Given the description of an element on the screen output the (x, y) to click on. 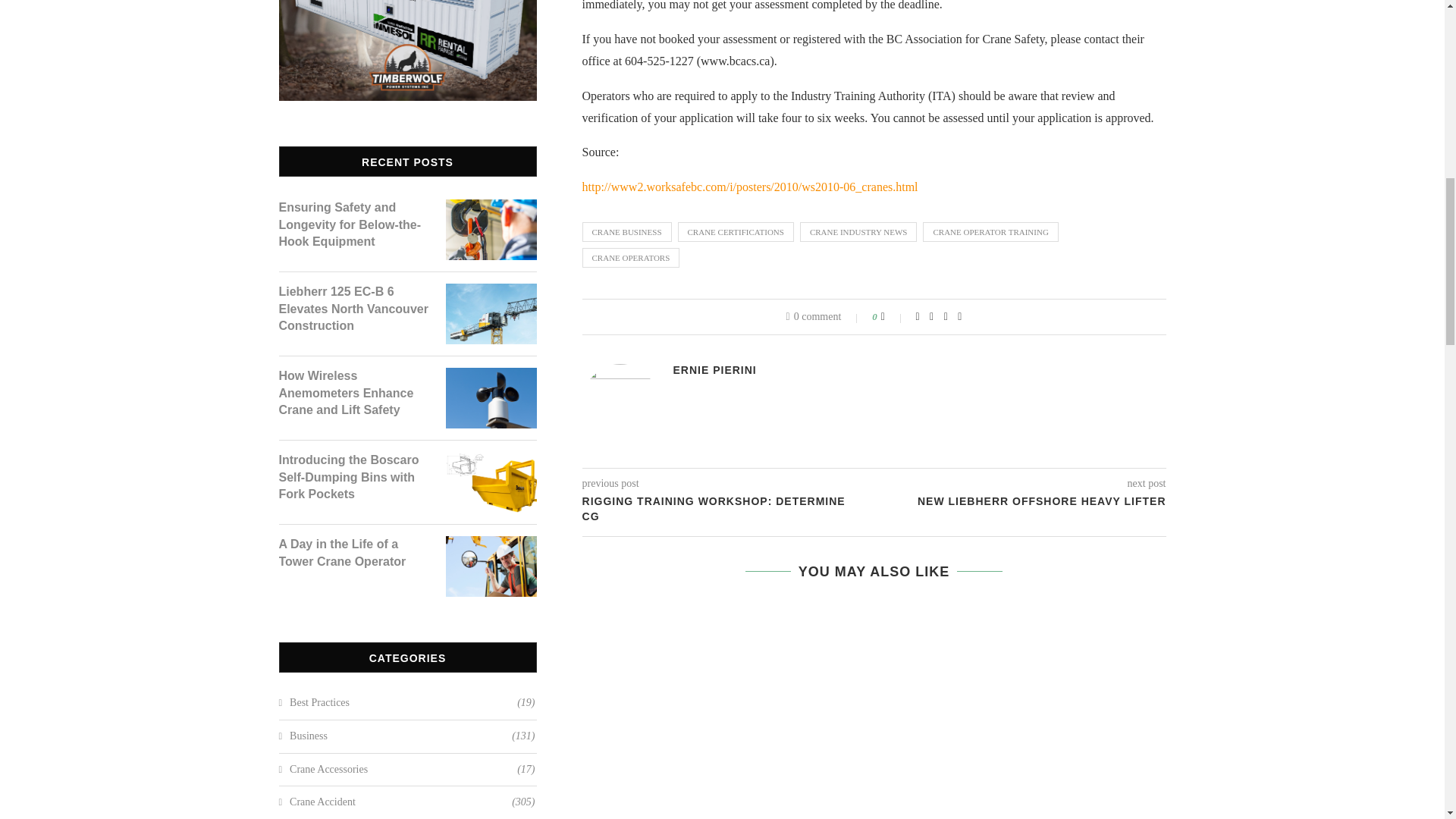
How Wireless Anemometers Enhance Crane and Lift Safety (354, 392)
Ensuring Safety and Longevity for Below-the-Hook Equipment (354, 224)
Liebherr 125 EC-B 6 Elevates North Vancouver Construction (491, 292)
A Day in the Life of a Tower Crane Operator (491, 545)
Liebherr 125 EC-B 6 Elevates North Vancouver Construction (354, 308)
Ensuring Safety and Longevity for Below-the-Hook Equipment (491, 208)
Introducing the Boscaro Self-Dumping Bins with Fork Pockets (354, 477)
Introducing the Boscaro Self-Dumping Bins with Fork Pockets (491, 460)
How Wireless Anemometers Enhance Crane and Lift Safety (491, 377)
A Day in the Life of a Tower Crane Operator (354, 553)
